Given the description of an element on the screen output the (x, y) to click on. 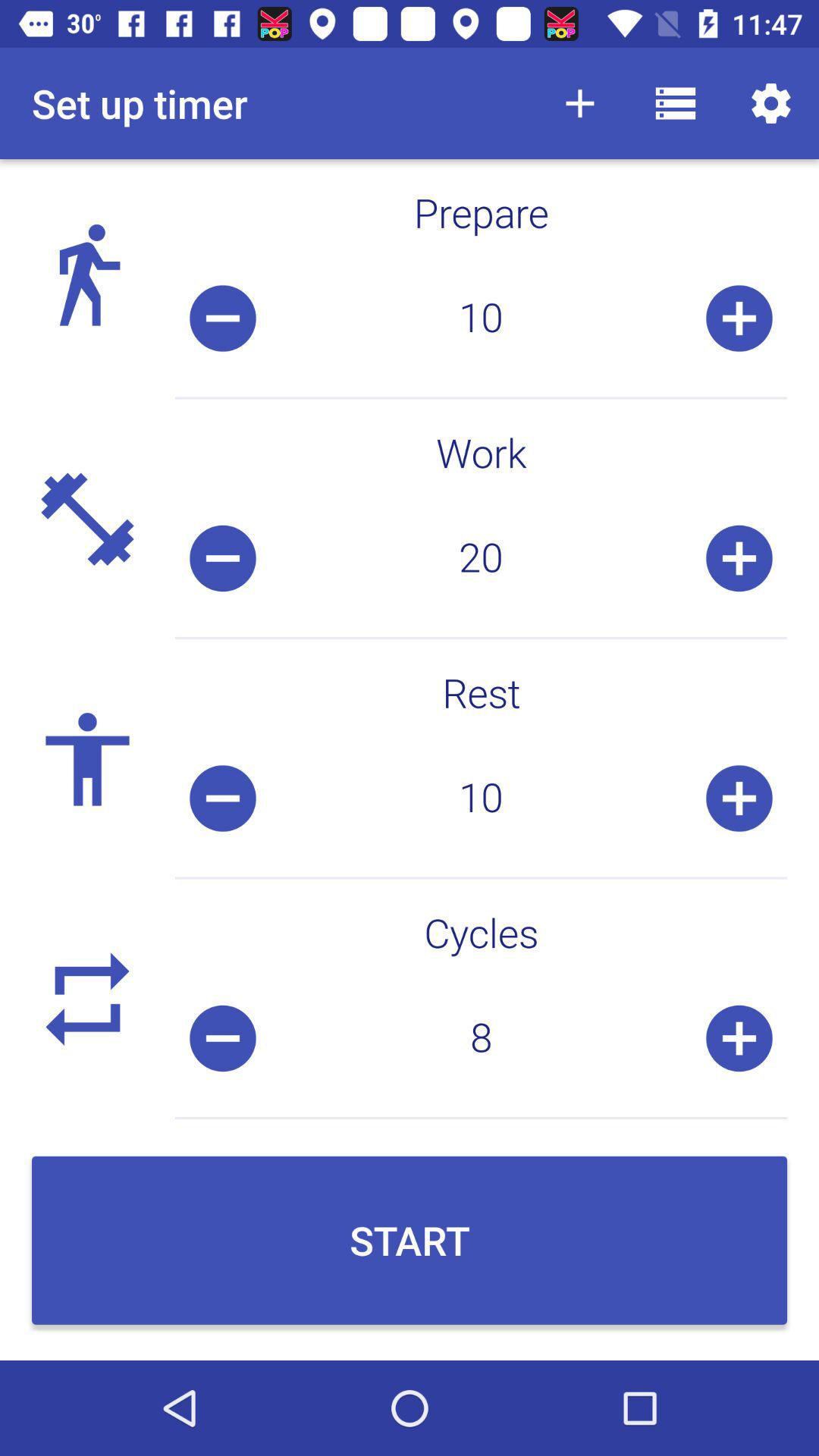
scroll to the start icon (409, 1240)
